Given the description of an element on the screen output the (x, y) to click on. 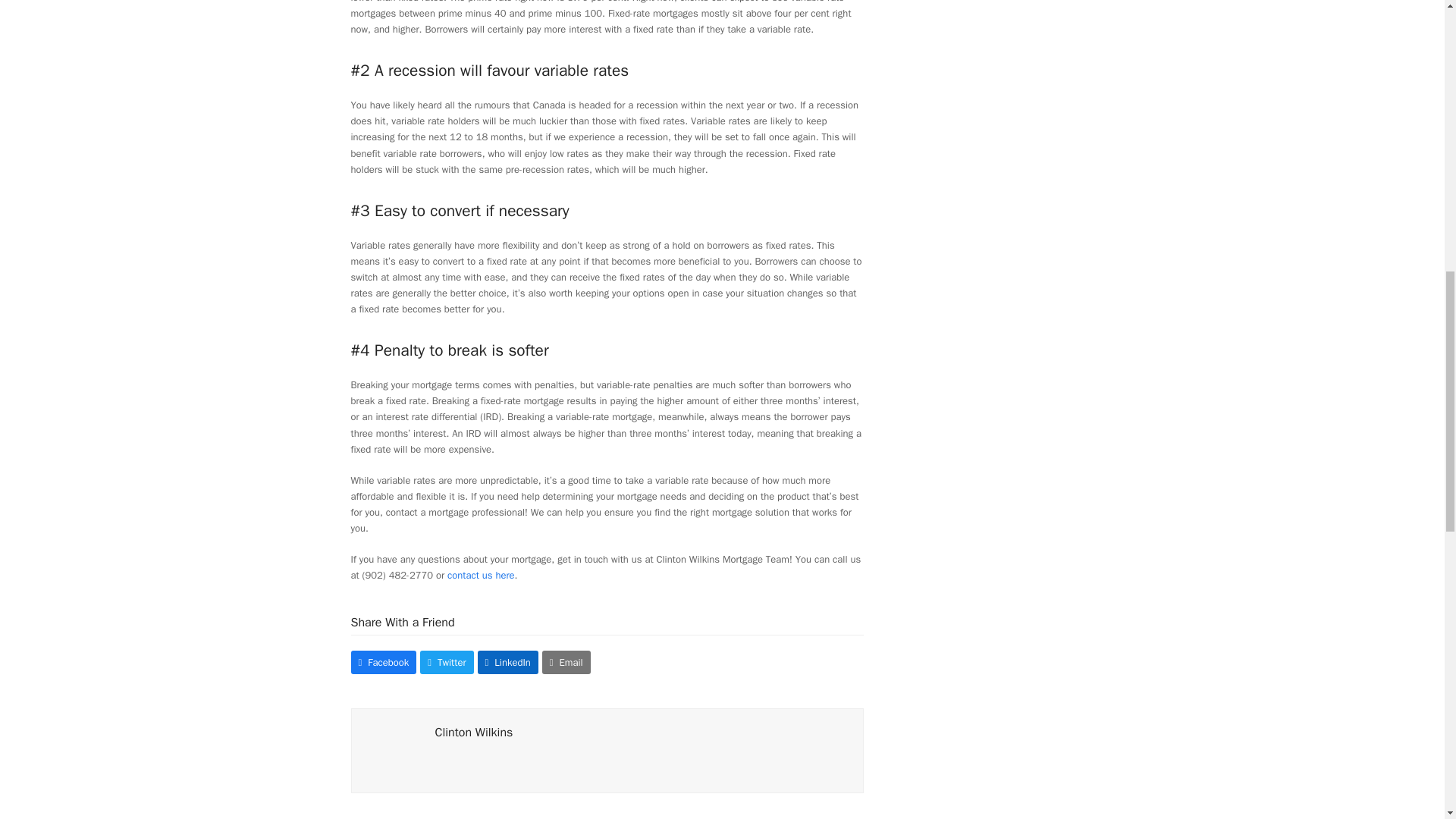
contact us here (480, 574)
LinkedIn (507, 662)
Visit Author Page (474, 732)
Email (566, 662)
Visit Author Page (393, 748)
Twitter (446, 662)
Facebook (383, 662)
Clinton Wilkins (474, 732)
